Given the description of an element on the screen output the (x, y) to click on. 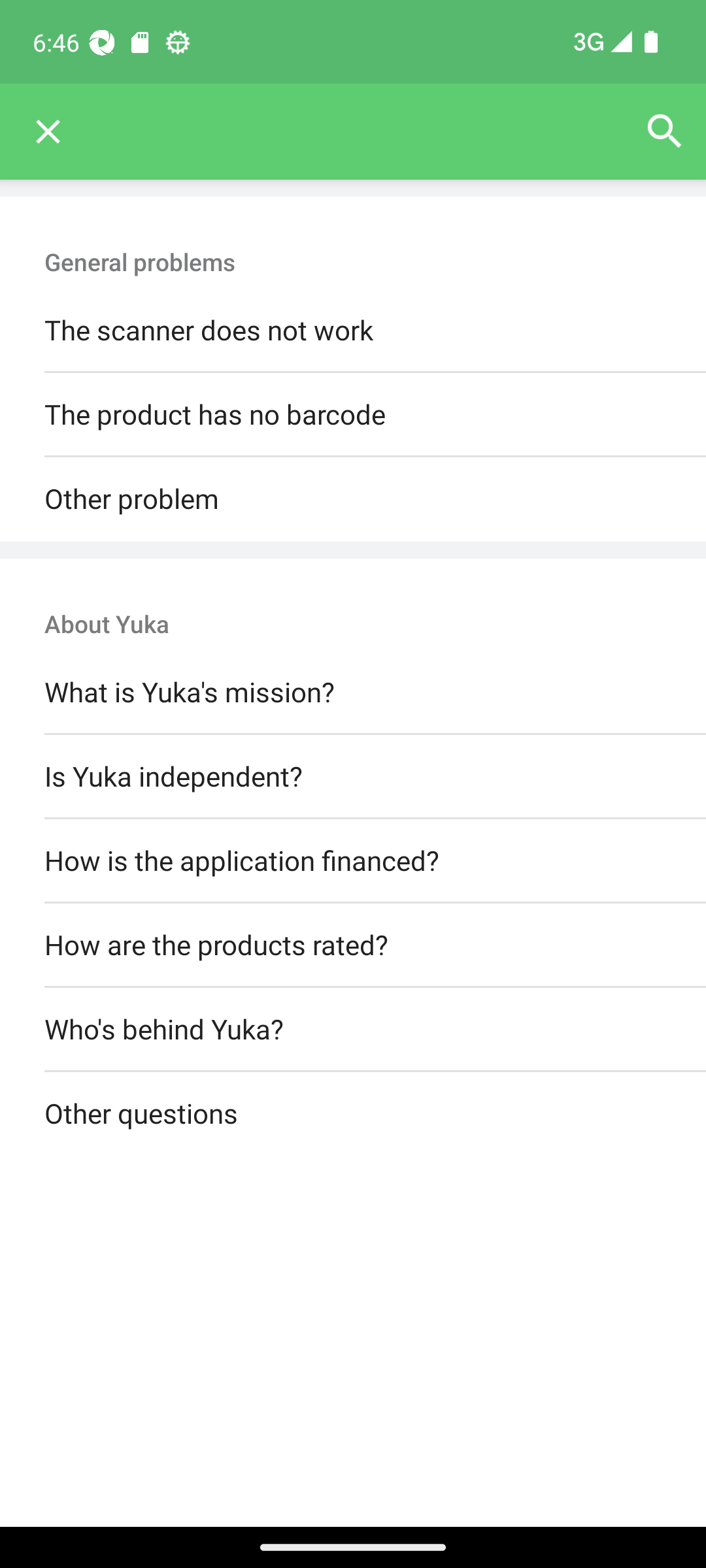
Search (664, 131)
The scanner does not work (353, 330)
The product has no barcode (353, 415)
Other problem (353, 498)
What is Yuka's mission? (353, 692)
Is Yuka independent? (353, 776)
How is the application financed? (353, 860)
How are the products rated? (353, 945)
Who's behind Yuka? (353, 1029)
Other questions (353, 1114)
